Given the description of an element on the screen output the (x, y) to click on. 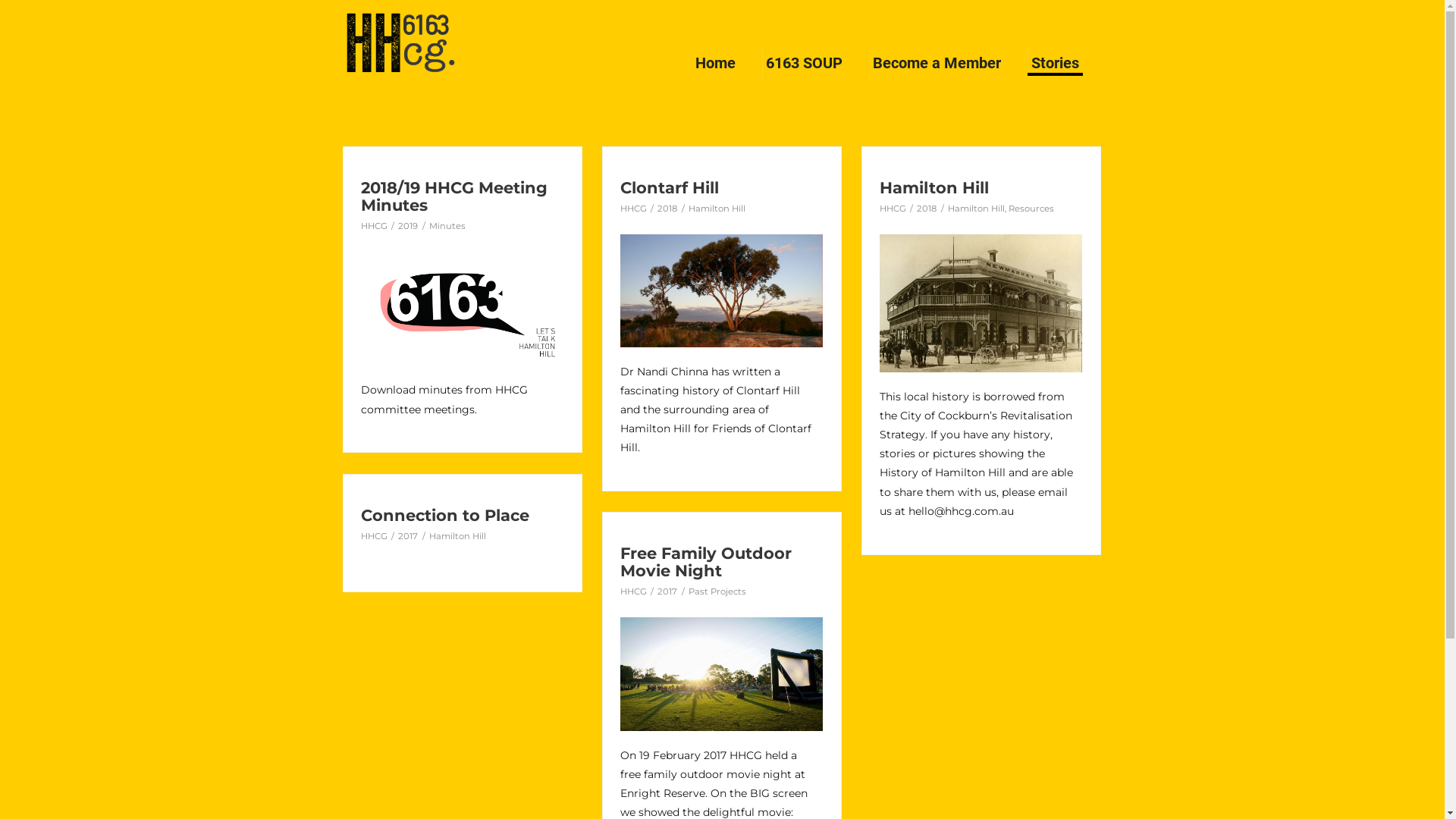
Minutes Element type: text (447, 225)
Permalink to: "Clontarf Hill" Element type: hover (721, 290)
Permalink to: "Hamilton Hill" Element type: hover (980, 303)
Stories Element type: text (1054, 60)
2018/19 HHCG Meeting Minutes Element type: text (453, 196)
Permalink to: "Free Family Outdoor Movie Night" Element type: hover (721, 674)
Hamilton Hill Element type: text (933, 187)
Resources Element type: text (1031, 208)
Hamilton Hill Element type: text (457, 535)
Connection to Place Element type: text (444, 514)
Free Family Outdoor Movie Night Element type: text (705, 561)
6163 SOUP Element type: text (803, 62)
Permalink to: "2018/19 HHCG Meeting Minutes" Element type: hover (461, 308)
Clontarf Hill Element type: text (669, 187)
Hamilton Hill Element type: text (975, 208)
Become a Member Element type: text (936, 62)
Home Element type: text (715, 62)
Past Projects Element type: text (717, 591)
Hamilton Hill Element type: text (716, 208)
